Given the description of an element on the screen output the (x, y) to click on. 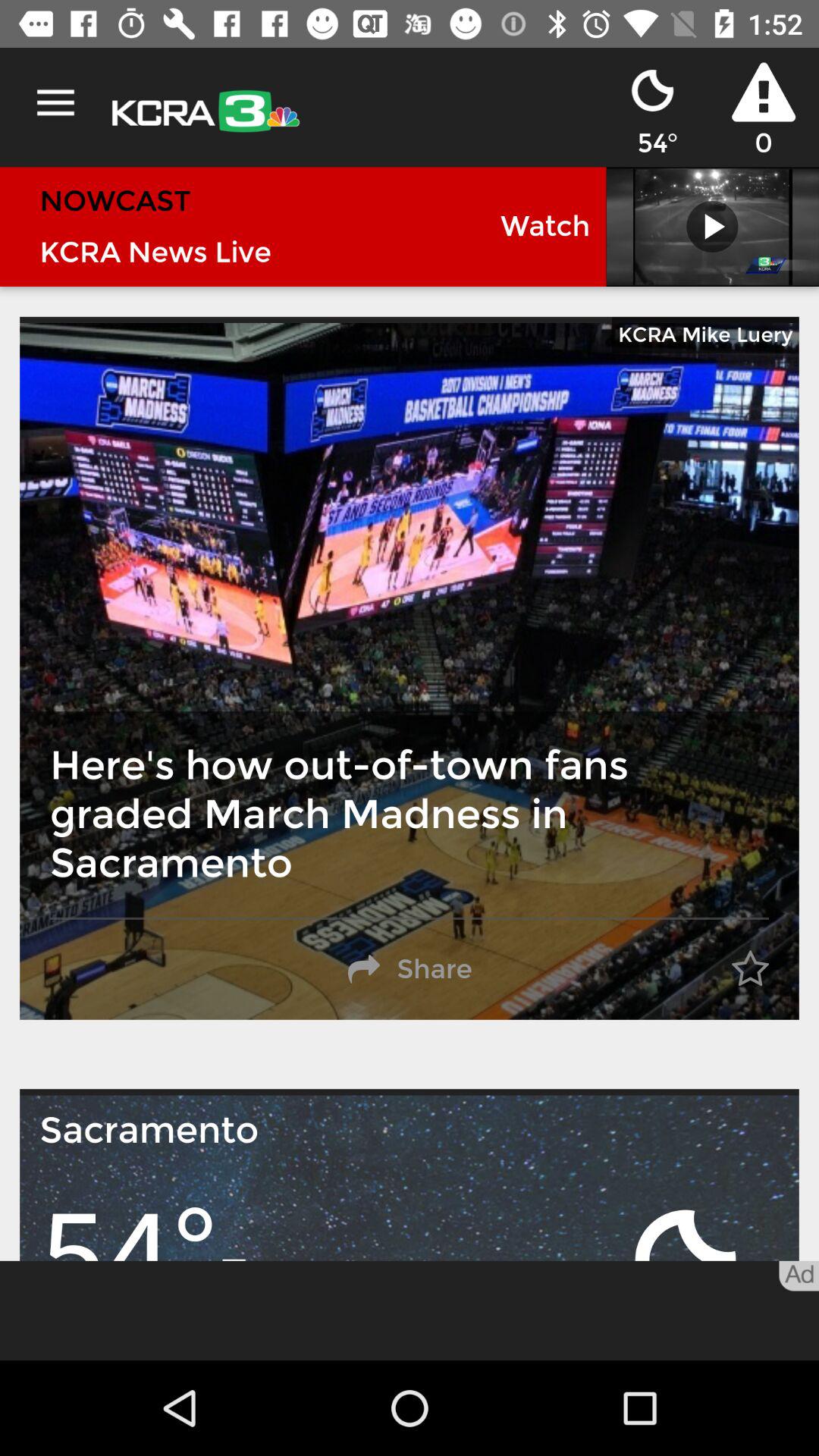
turn off the item on the right (750, 969)
